Given the description of an element on the screen output the (x, y) to click on. 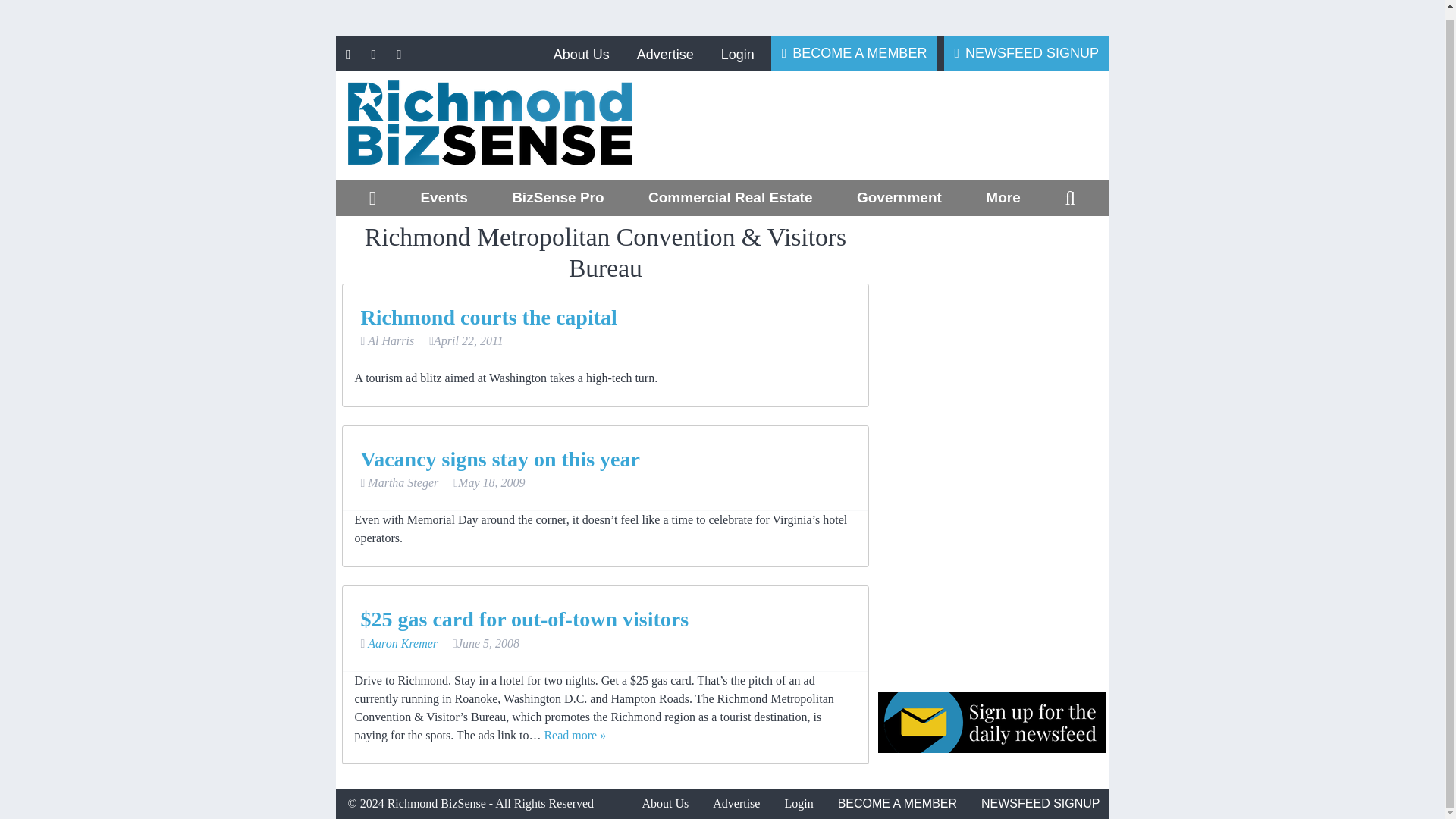
About Us (581, 53)
NEWSFEED SIGNUP (1026, 52)
Government (898, 197)
BECOME A MEMBER (854, 52)
Richmond courts the capital (489, 317)
Advertise (664, 53)
More (1002, 197)
Login (737, 53)
3rd party ad content (896, 125)
Vacancy signs stay on this year (500, 458)
